Given the description of an element on the screen output the (x, y) to click on. 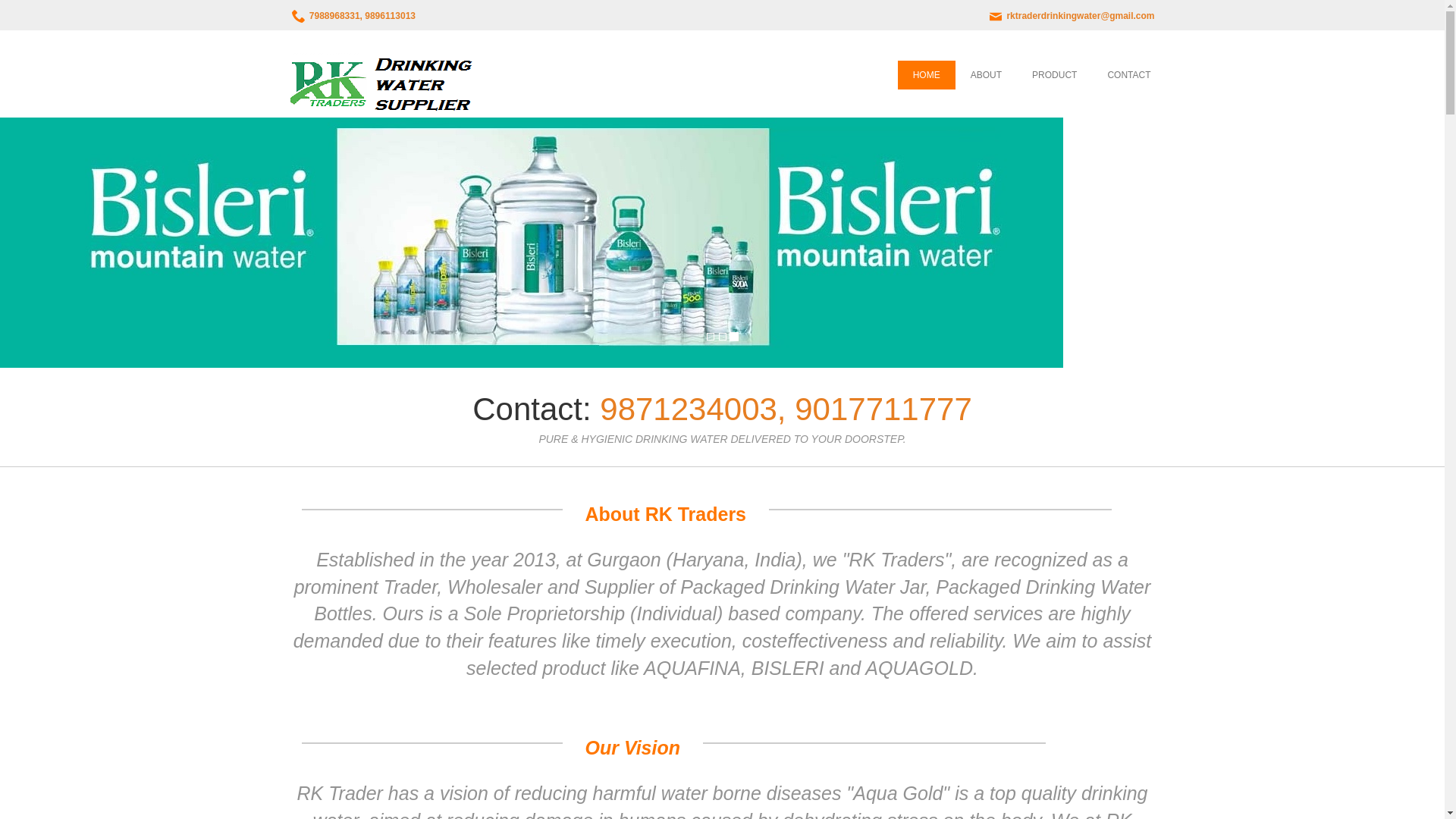
ABOUT (985, 74)
RK Trader (384, 85)
HOME (926, 74)
CONTACT (1129, 74)
PRODUCT (1054, 74)
